Given the description of an element on the screen output the (x, y) to click on. 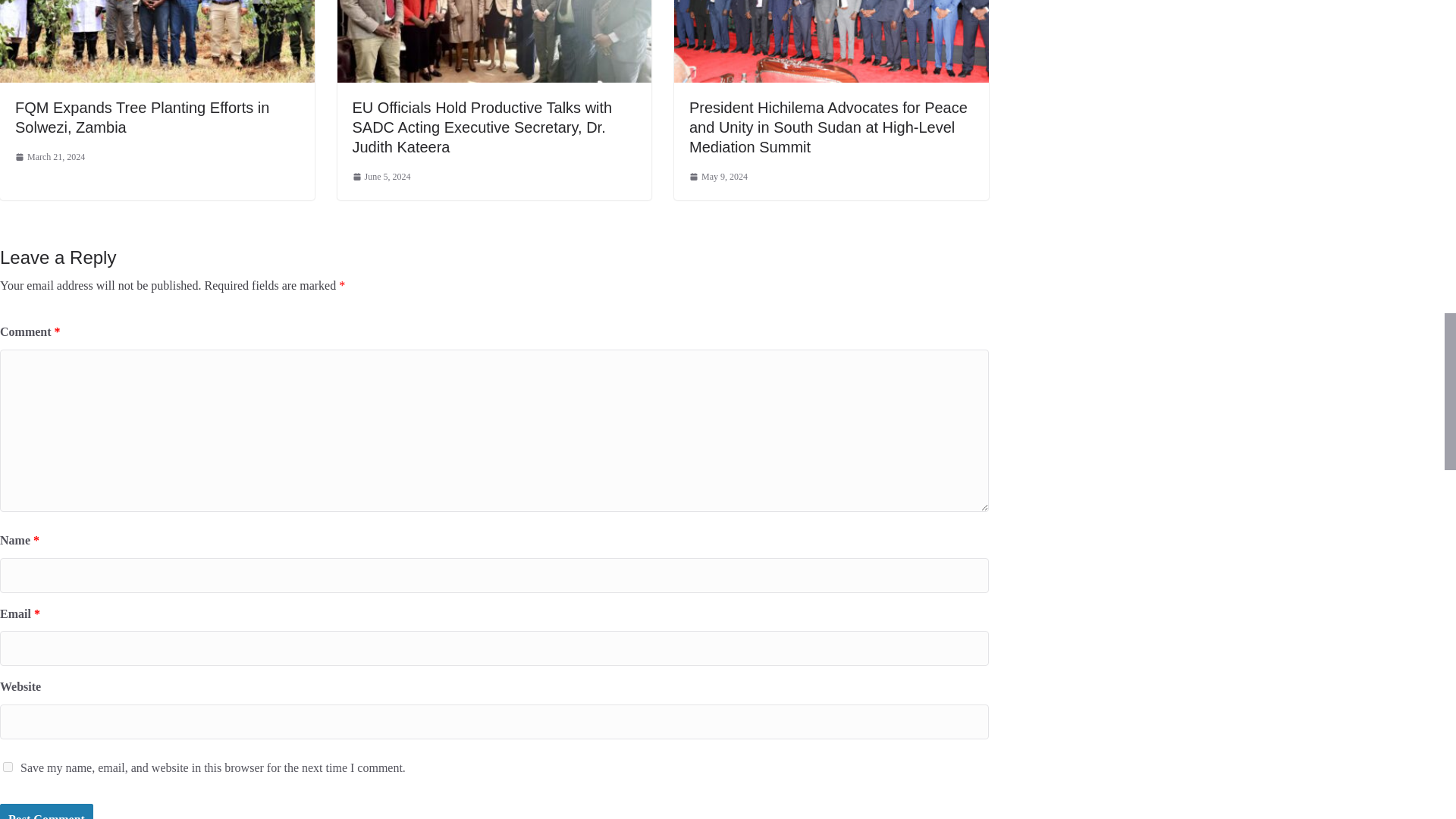
5:13 pm (381, 176)
3:41 pm (718, 176)
Post Comment (46, 811)
FQM Expands Tree Planting Efforts in Solwezi, Zambia (141, 117)
yes (7, 767)
8:36 am (49, 157)
